Given the description of an element on the screen output the (x, y) to click on. 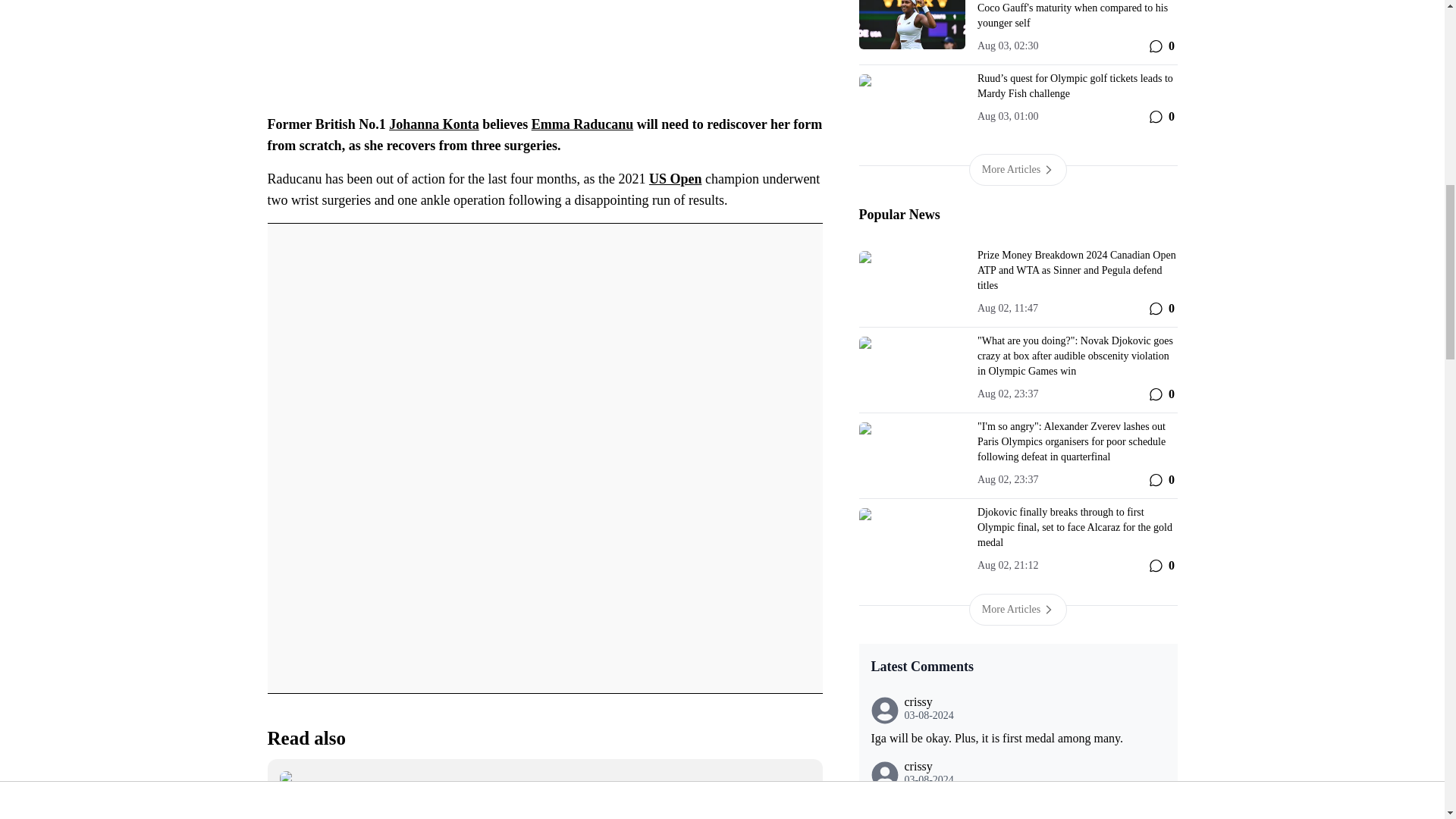
US Open (675, 178)
Johanna Konta (433, 124)
Johanna Konta (433, 124)
0 (1160, 308)
More Articles (1018, 169)
US Open (675, 178)
0 (1160, 45)
0 (1160, 116)
Emma Raducanu (582, 124)
Emma Raducanu (582, 124)
